Given the description of an element on the screen output the (x, y) to click on. 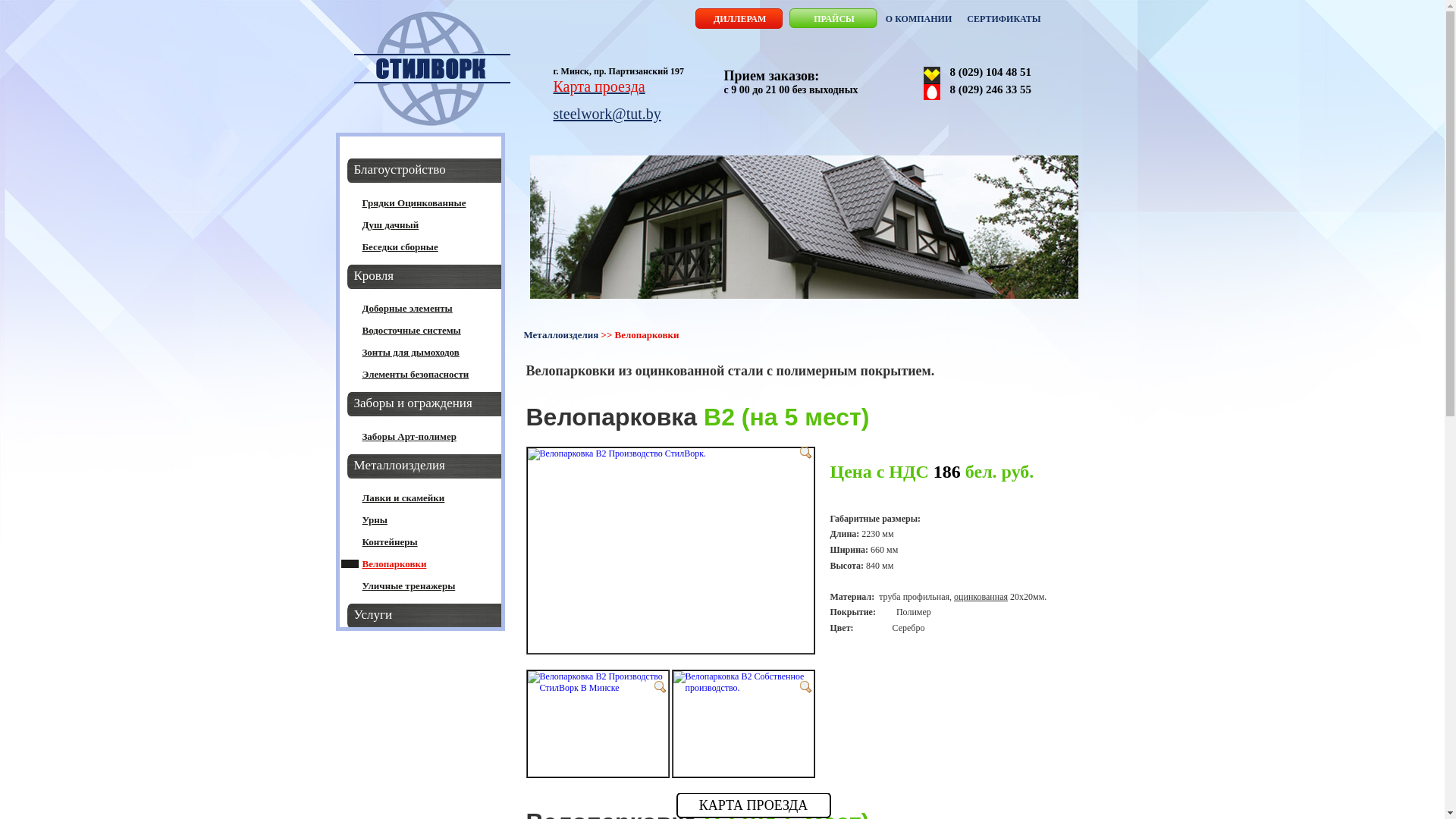
steelwork@tut.by Element type: text (607, 113)
